Given the description of an element on the screen output the (x, y) to click on. 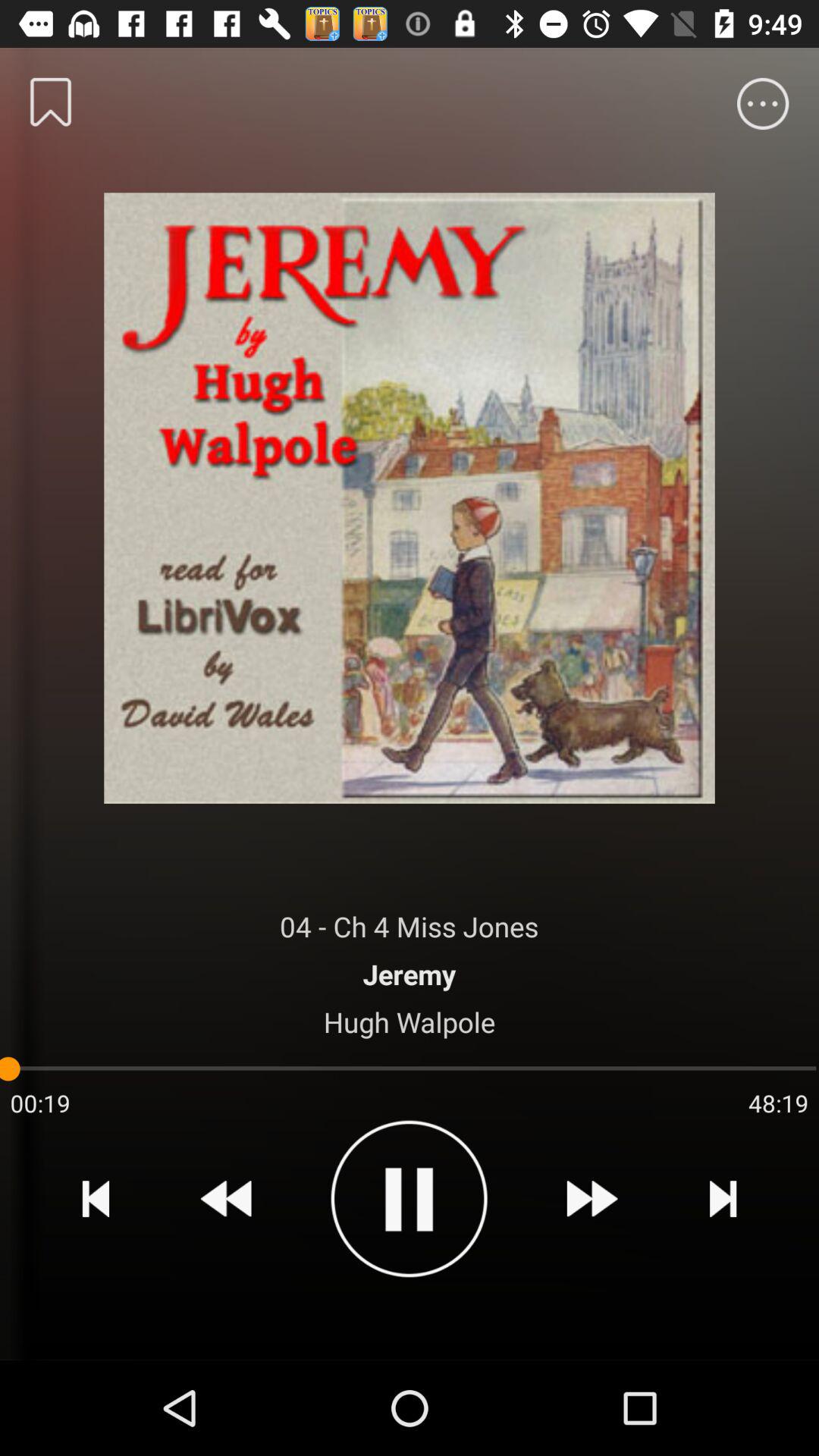
select icon below the jeremy item (409, 1021)
